Given the description of an element on the screen output the (x, y) to click on. 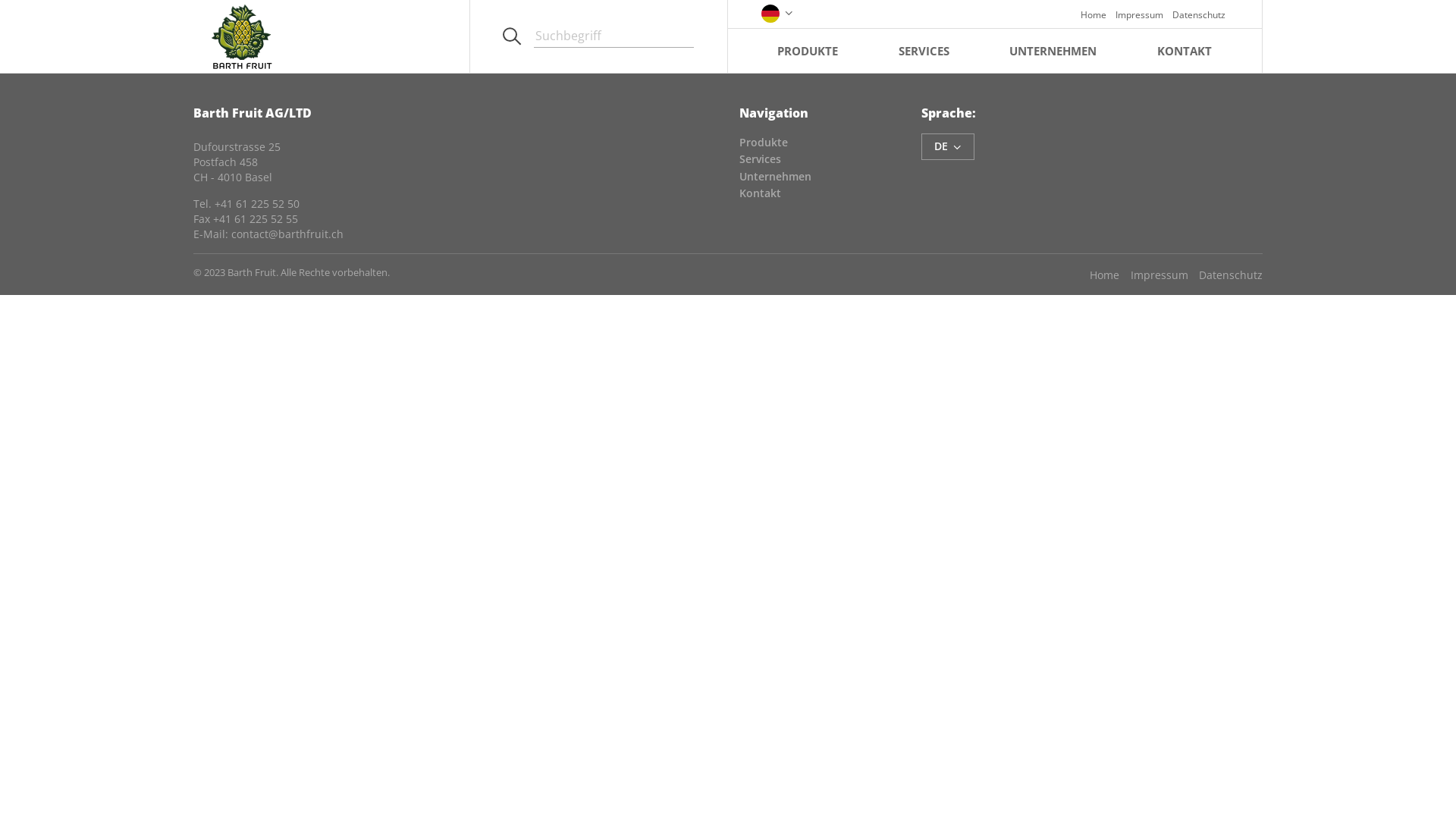
Kontakt Element type: text (760, 192)
Datenschutz Element type: text (1194, 13)
SERVICES Element type: text (923, 50)
Datenschutz Element type: text (1225, 274)
Services Element type: text (760, 158)
DE Element type: text (947, 146)
Impressum Element type: text (1153, 274)
Impressum Element type: text (1134, 13)
Produkte Element type: text (763, 141)
Home Element type: text (1099, 274)
Home Element type: text (1088, 13)
UNTERNEHMEN Element type: text (1052, 50)
Unternehmen Element type: text (775, 176)
KONTAKT Element type: text (1184, 50)
PRODUKTE Element type: text (807, 50)
